Given the description of an element on the screen output the (x, y) to click on. 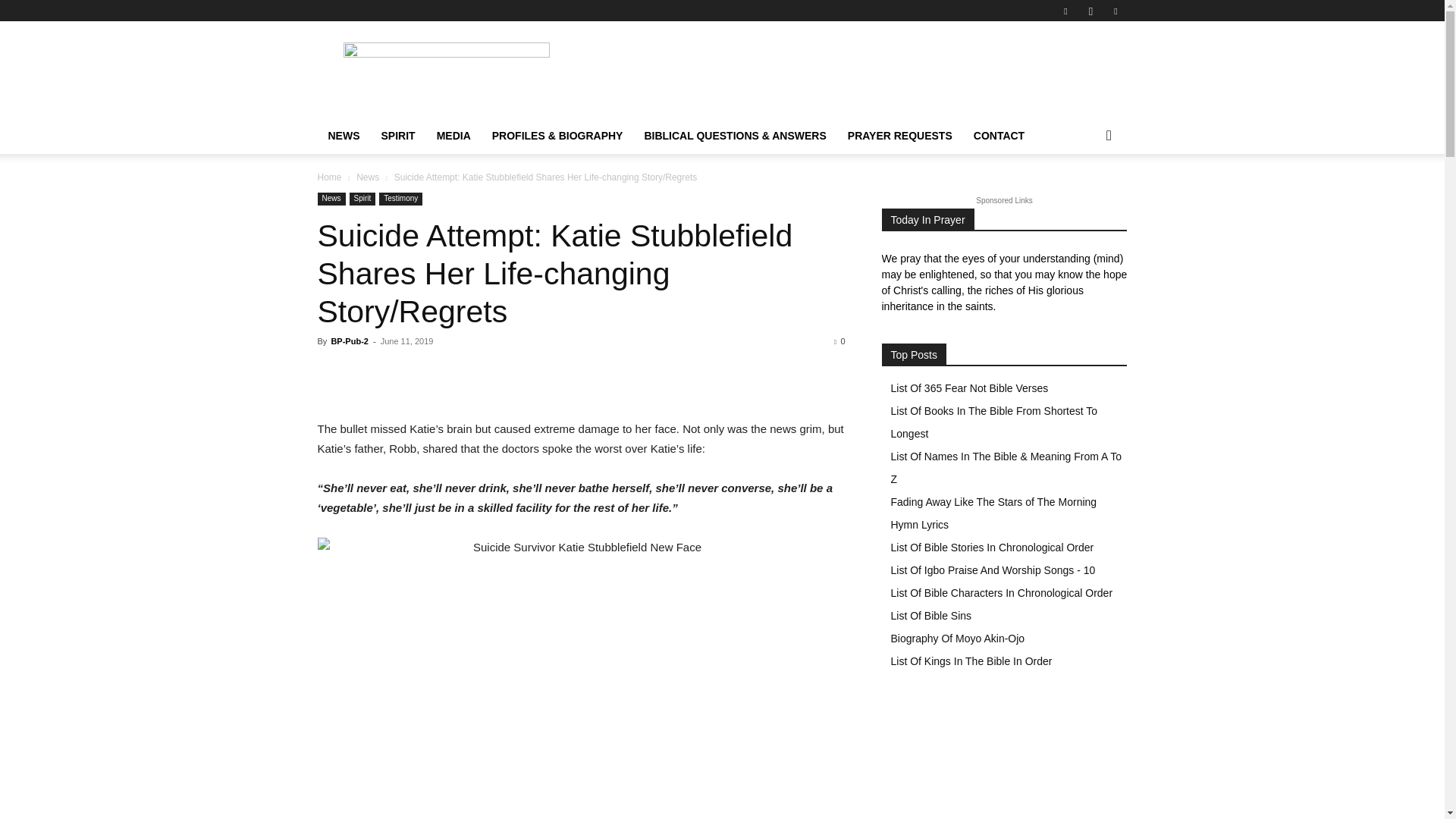
MEDIA (453, 135)
View all posts in News (367, 176)
Instagram (1090, 10)
NEWS (343, 135)
Facebook (1065, 10)
PRAYER REQUESTS (899, 135)
SPIRIT (397, 135)
Twitter (1114, 10)
